Given the description of an element on the screen output the (x, y) to click on. 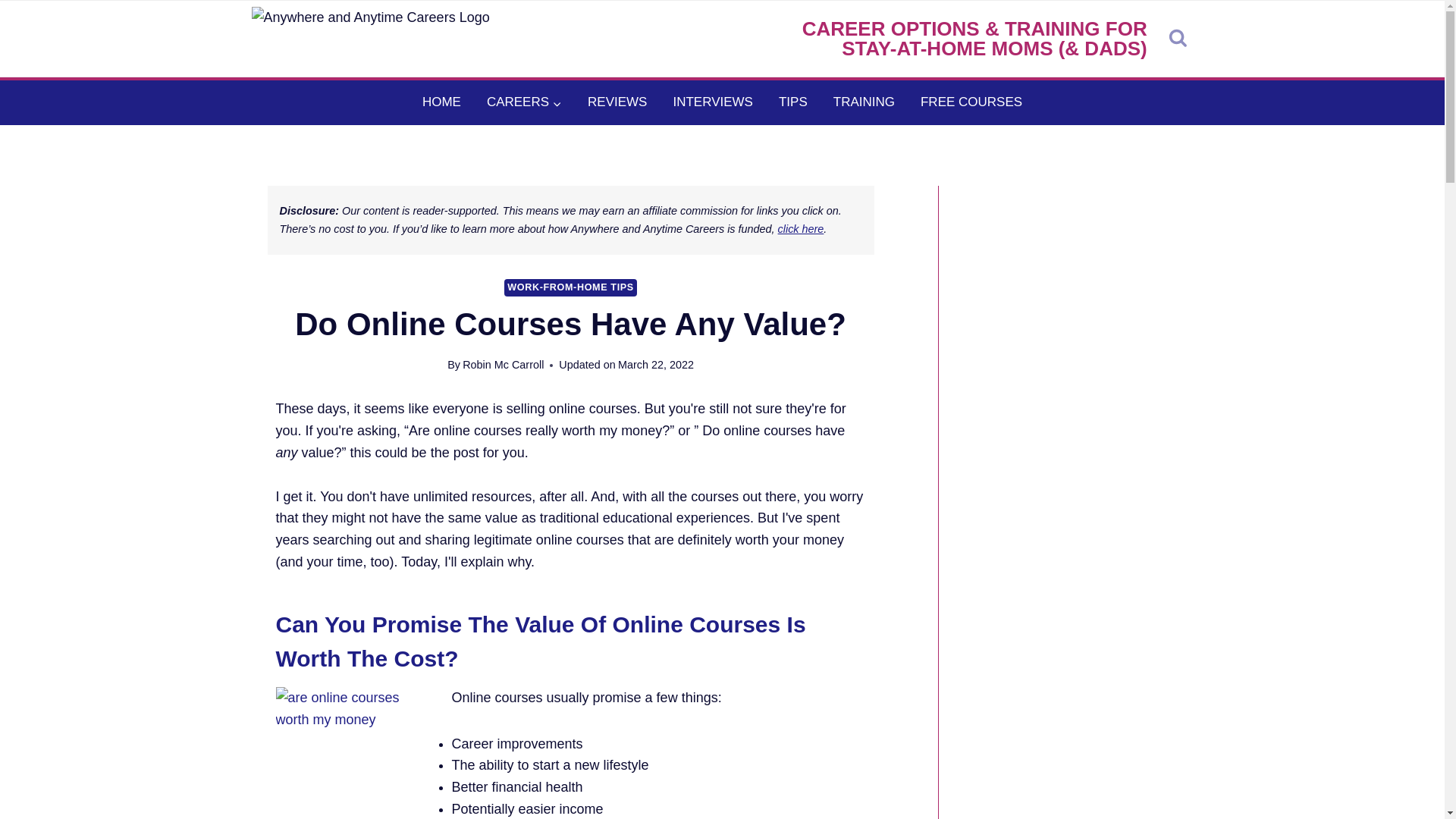
TRAINING (864, 102)
CAREERS (524, 102)
FREE COURSES (971, 102)
click here (800, 228)
TIPS (793, 102)
HOME (441, 102)
WORK-FROM-HOME TIPS (570, 287)
INTERVIEWS (712, 102)
REVIEWS (617, 102)
